Given the description of an element on the screen output the (x, y) to click on. 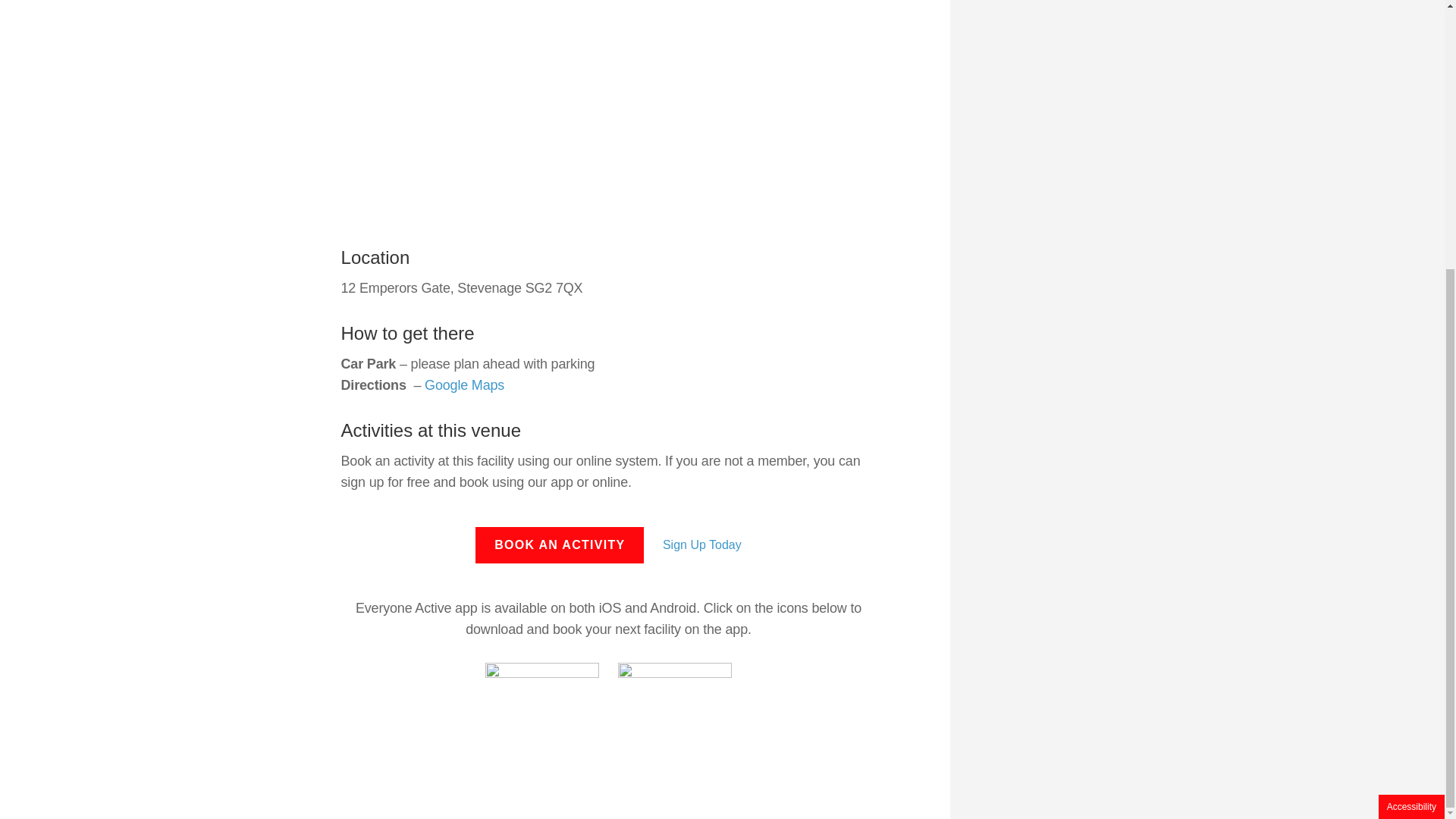
Sign Up Today (701, 545)
Google Maps (464, 385)
BOOK AN ACTIVITY (559, 545)
